Given the description of an element on the screen output the (x, y) to click on. 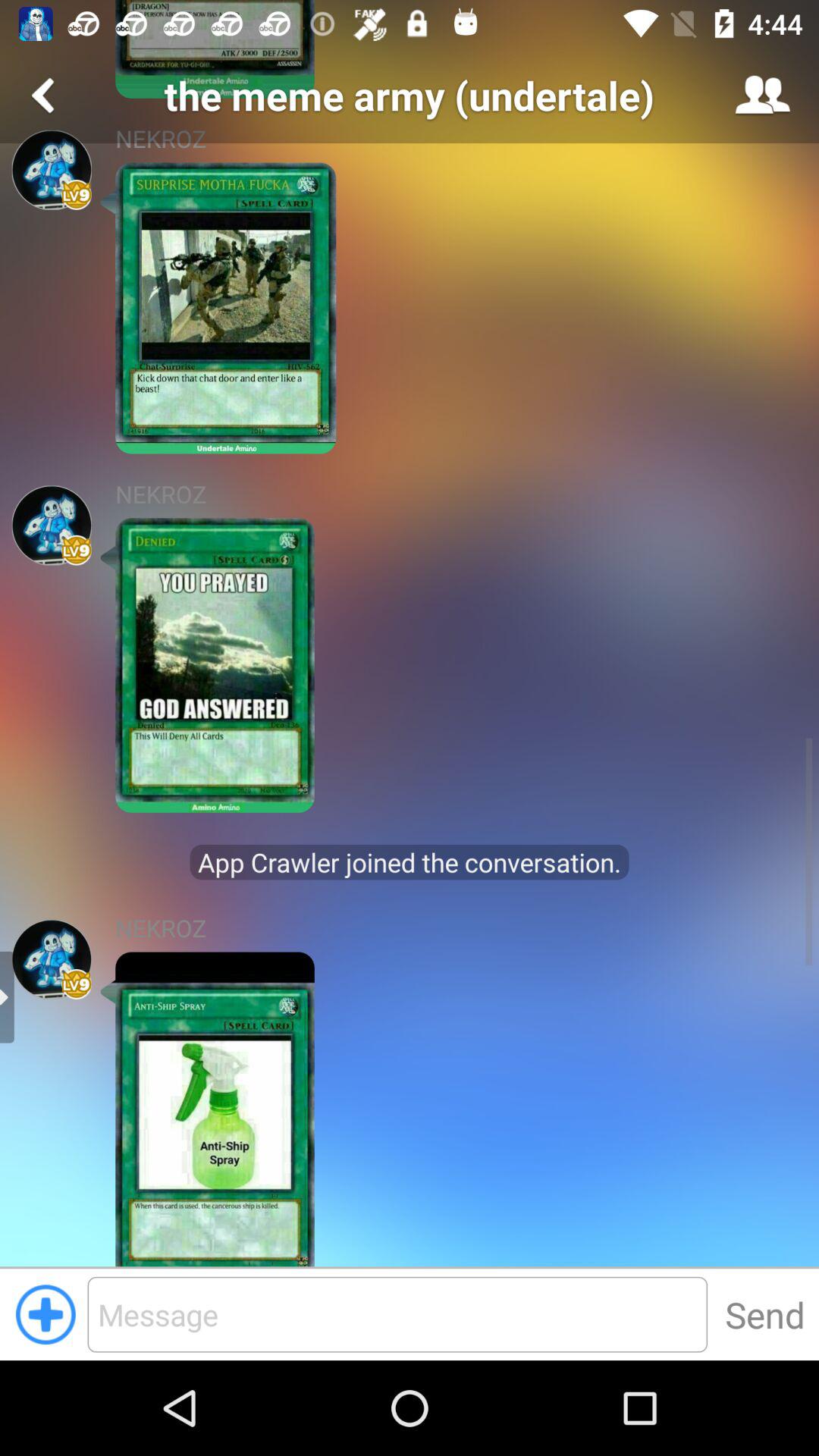
add option (45, 1314)
